Given the description of an element on the screen output the (x, y) to click on. 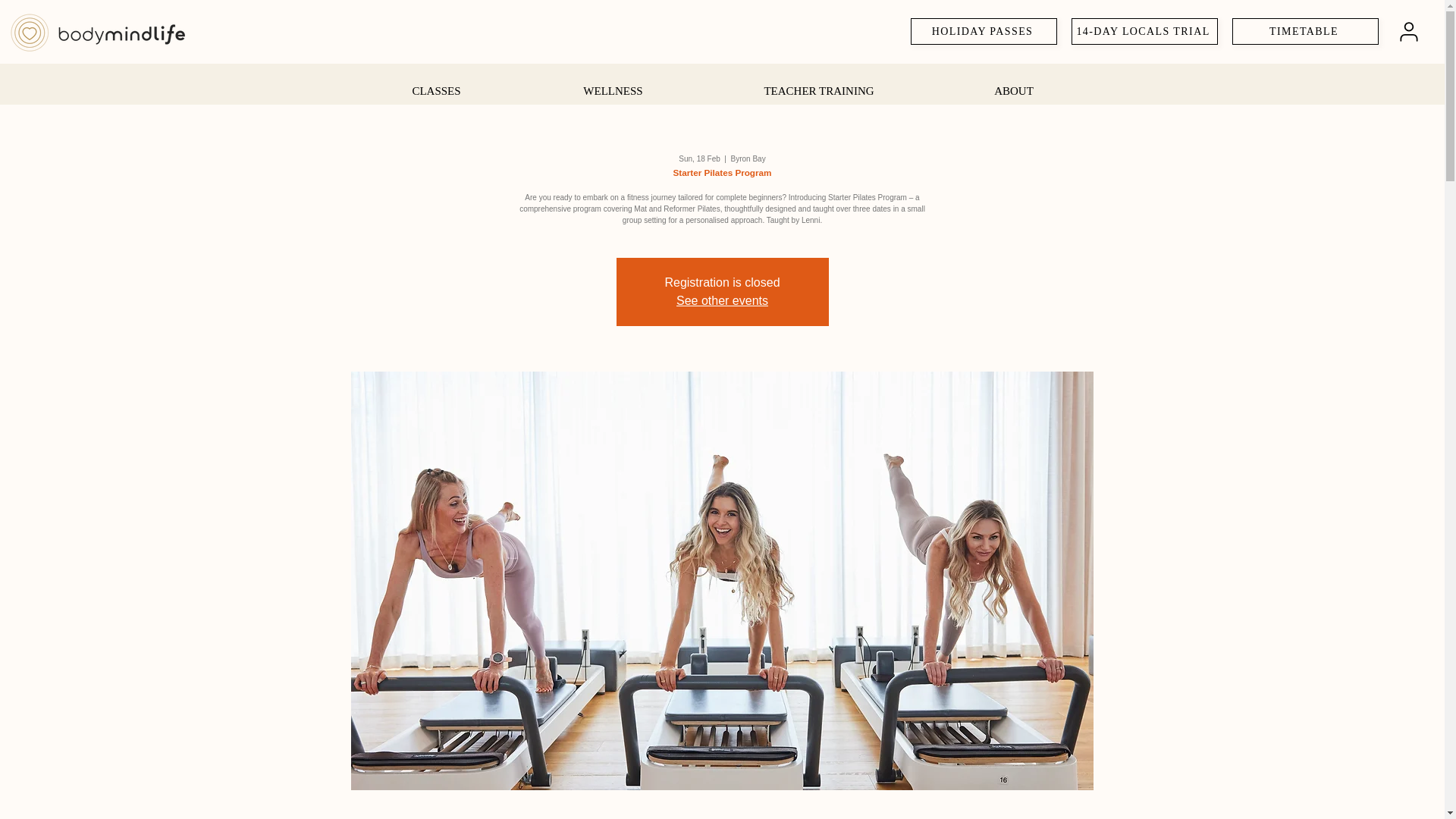
14-DAY LOCALS TRIAL (1144, 31)
HOLIDAY PASSES (984, 31)
See other events (722, 300)
ABOUT (1014, 84)
TIMETABLE (1304, 31)
